Given the description of an element on the screen output the (x, y) to click on. 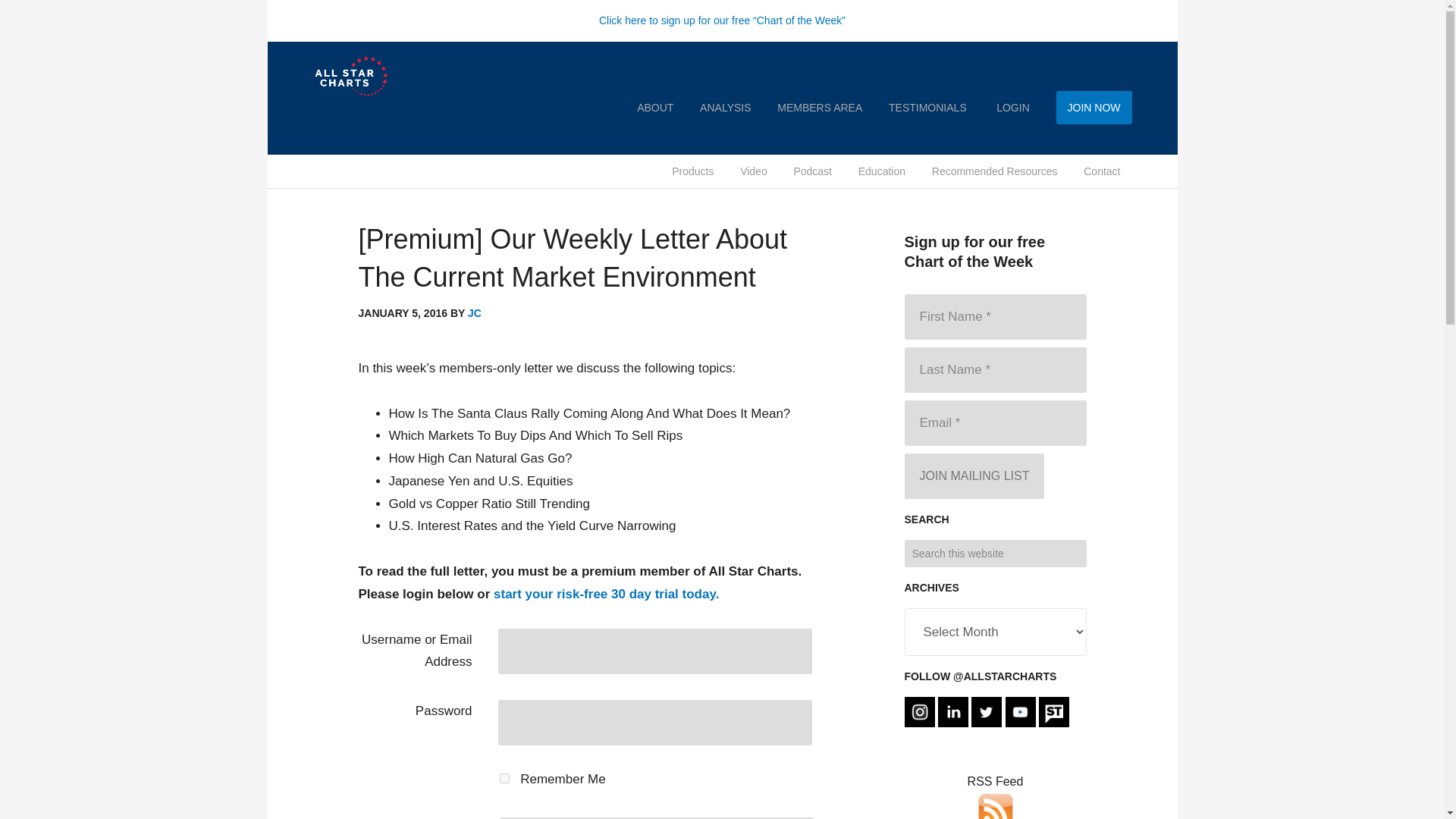
ABOUT (655, 107)
MEMBERS AREA (819, 107)
TESTIMONIALS (927, 107)
ANALYSIS (724, 107)
ALL STAR CHARTS (388, 75)
forever (503, 777)
